Given the description of an element on the screen output the (x, y) to click on. 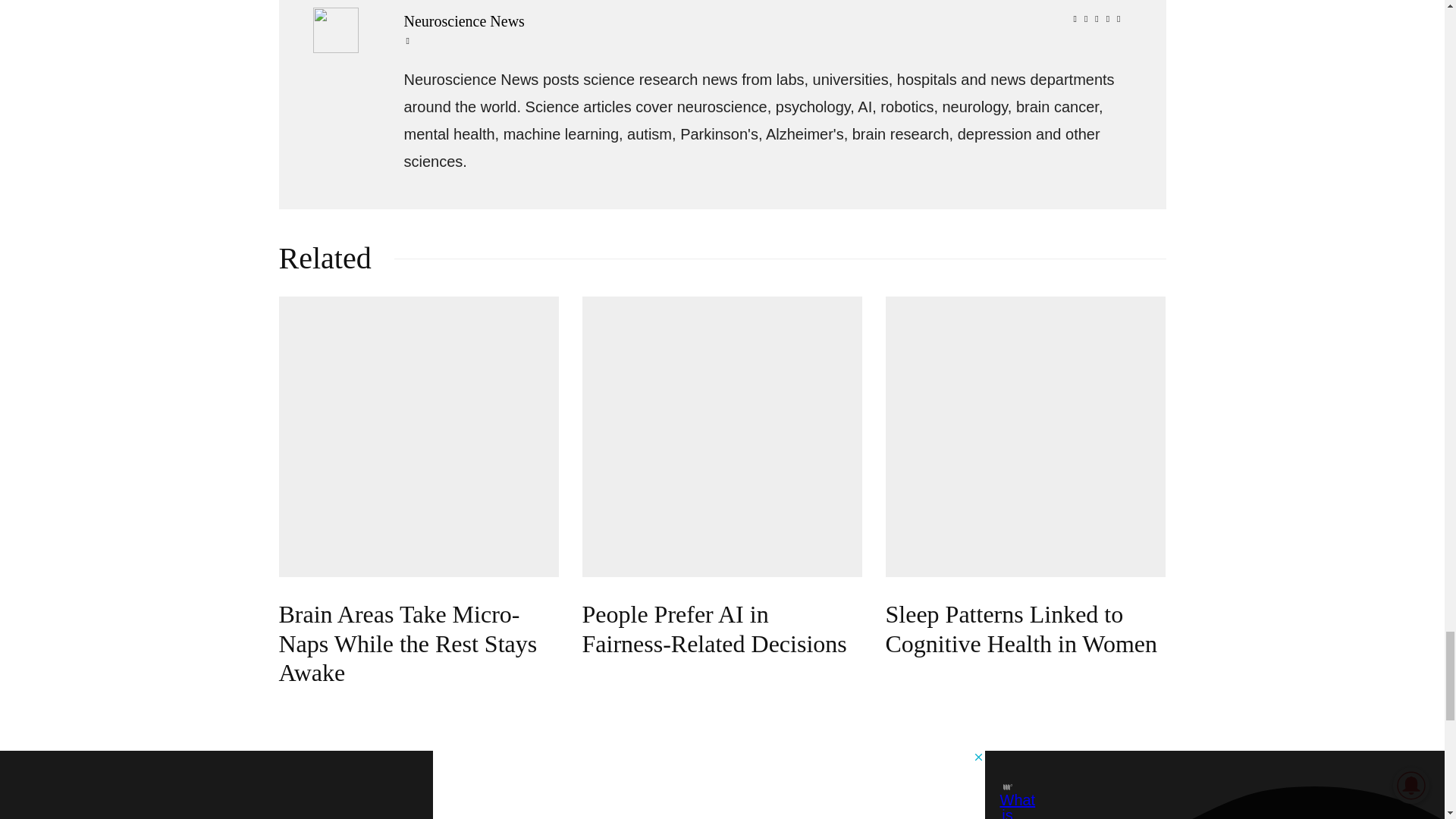
Neuroscience News (764, 21)
